Given the description of an element on the screen output the (x, y) to click on. 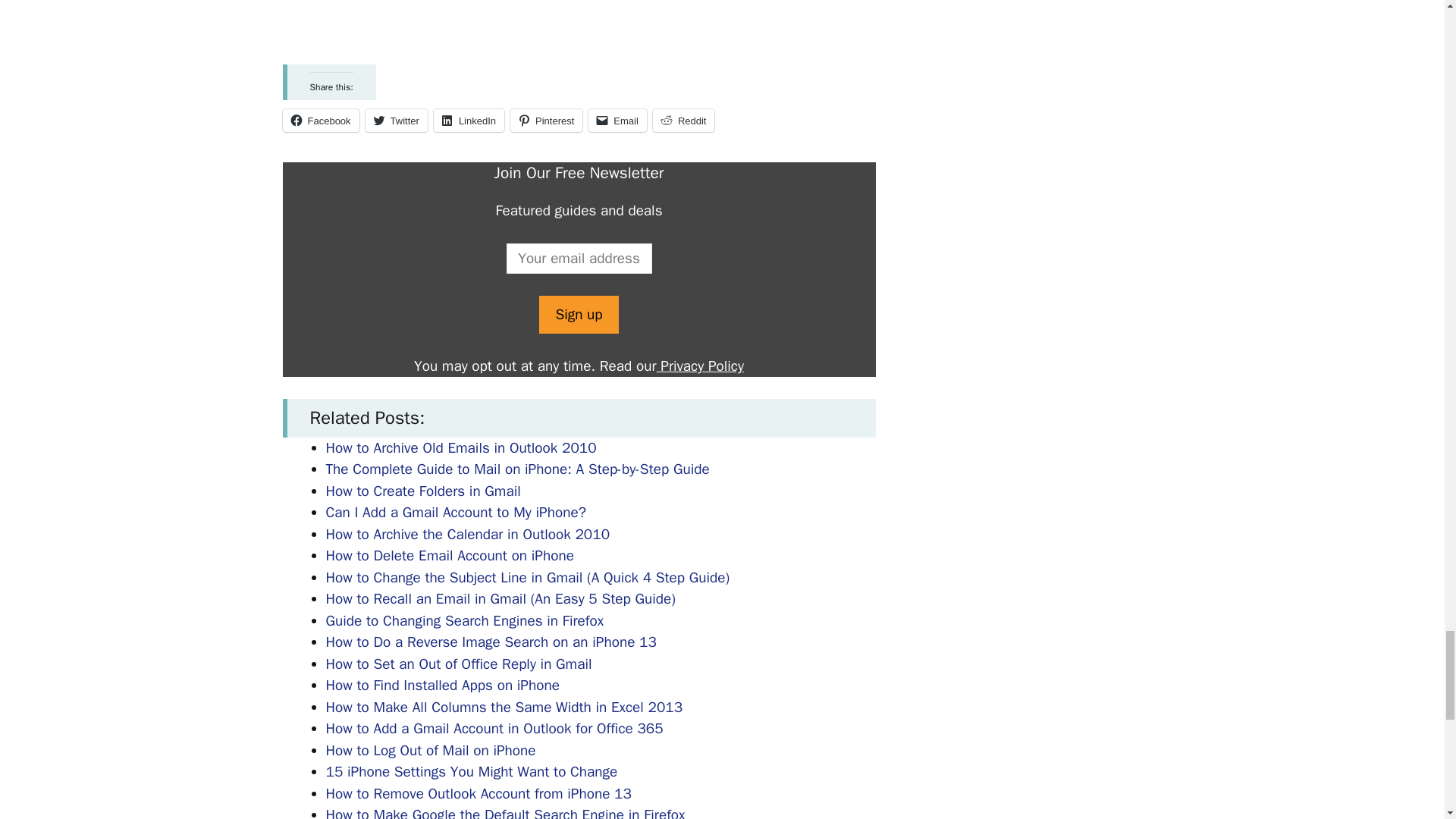
How to Archive the Calendar in Outlook 2010 (468, 534)
Email (617, 119)
Click to share on LinkedIn (468, 119)
How to Archive Old Emails in Outlook 2010 (461, 447)
Twitter (396, 119)
Privacy Policy (700, 366)
Guide to Changing Search Engines in Firefox (465, 620)
How to Archive Old Emails in Outlook 2010 (461, 447)
Reddit (683, 119)
Click to share on Facebook (320, 119)
LinkedIn (468, 119)
Pinterest (546, 119)
How to Do a Reverse Image Search on an iPhone 13 (491, 642)
How to Delete Email Account on iPhone (449, 556)
Sign up (577, 314)
